Given the description of an element on the screen output the (x, y) to click on. 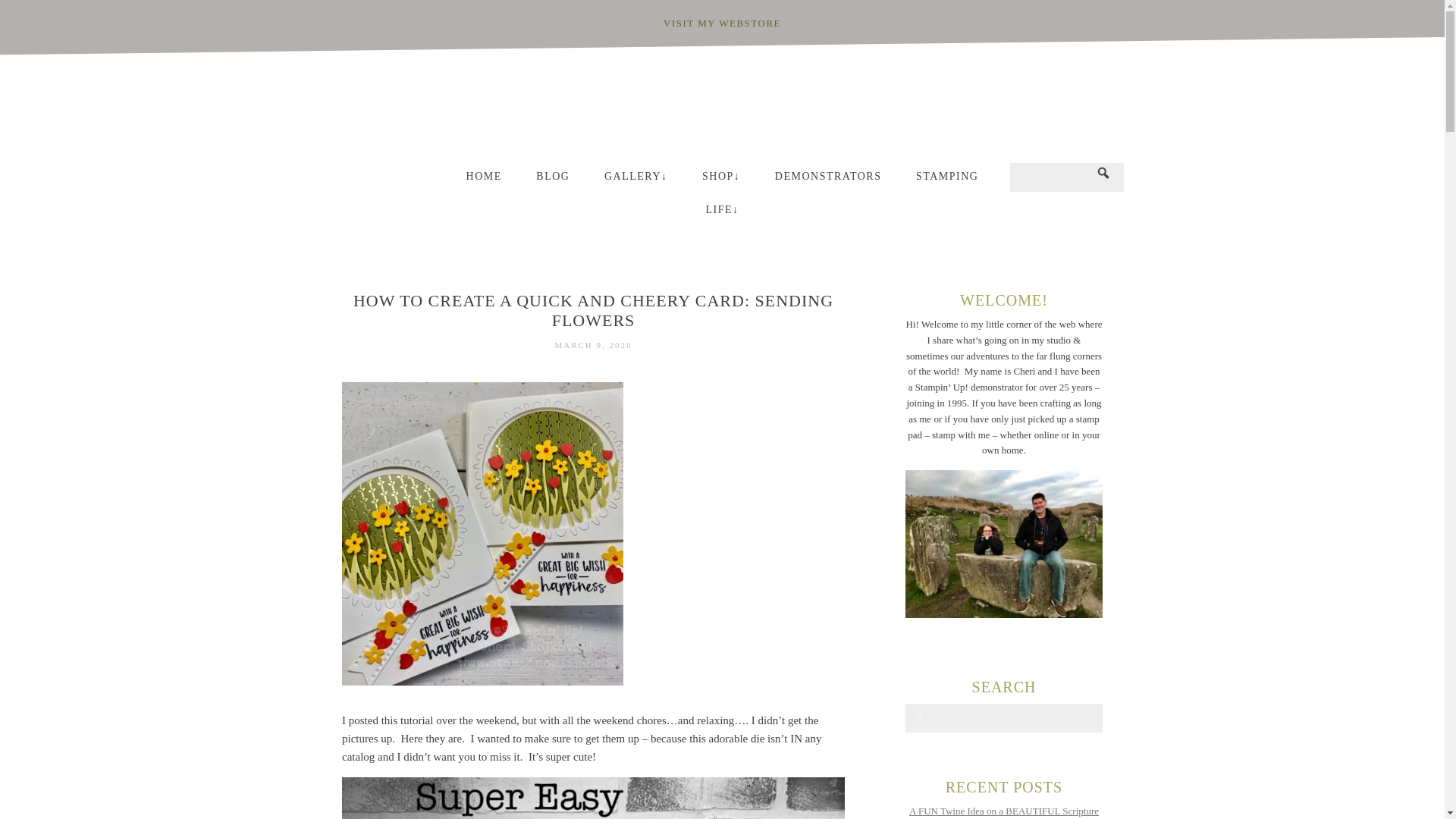
HOME (483, 180)
VISIT MY WEBSTORE (721, 22)
DEMONSTRATORS (828, 180)
CHERI'S CARDS (721, 107)
STAMPING (946, 180)
BLOG (553, 180)
Search (42, 14)
